Given the description of an element on the screen output the (x, y) to click on. 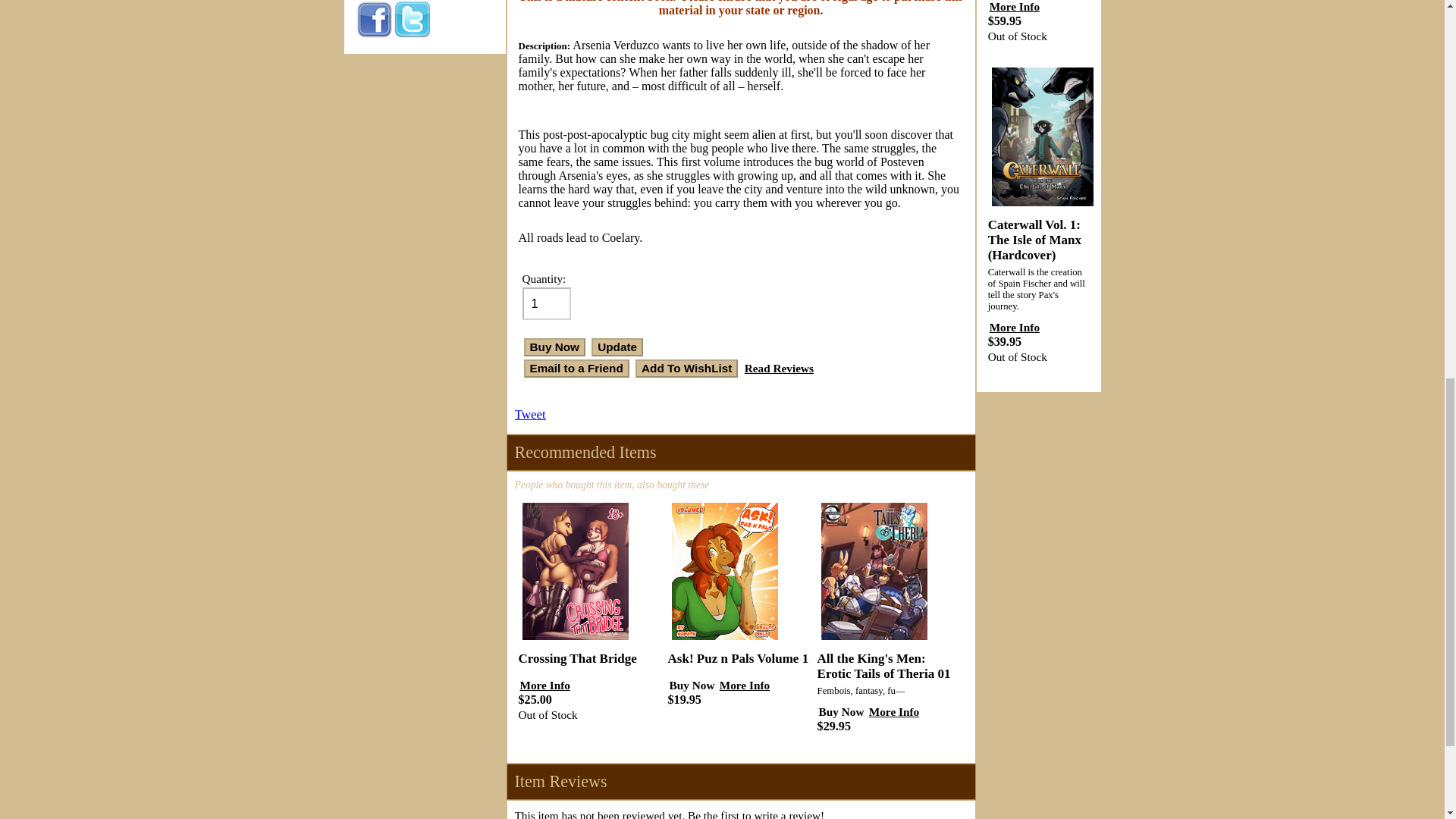
Email to a Friend (575, 368)
Update (617, 347)
Buy Now (553, 347)
Add To WishList (686, 368)
Twitter (411, 19)
1 (545, 303)
Twitter (411, 34)
Facebook (374, 19)
